Given the description of an element on the screen output the (x, y) to click on. 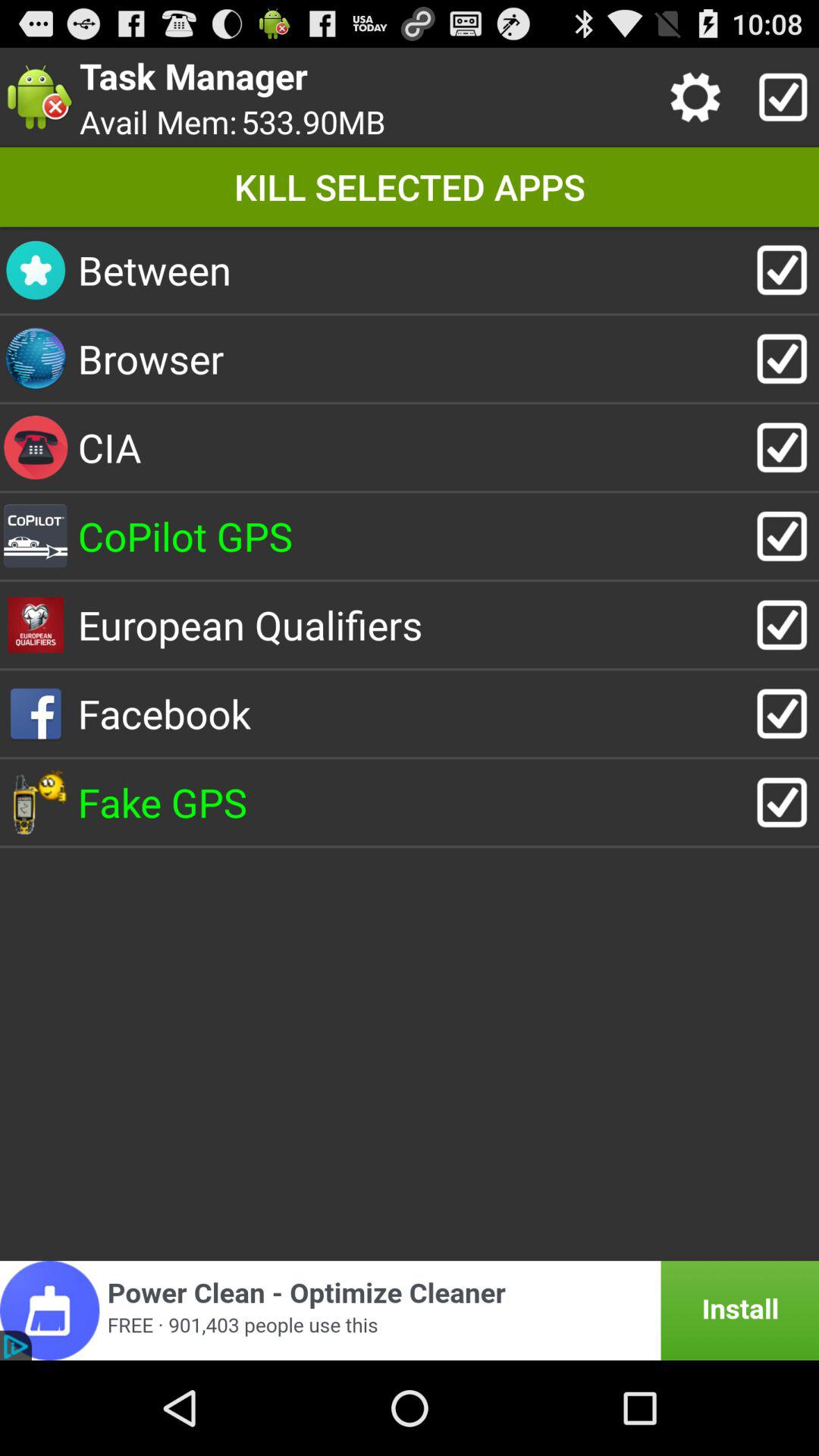
complete page (779, 97)
